Given the description of an element on the screen output the (x, y) to click on. 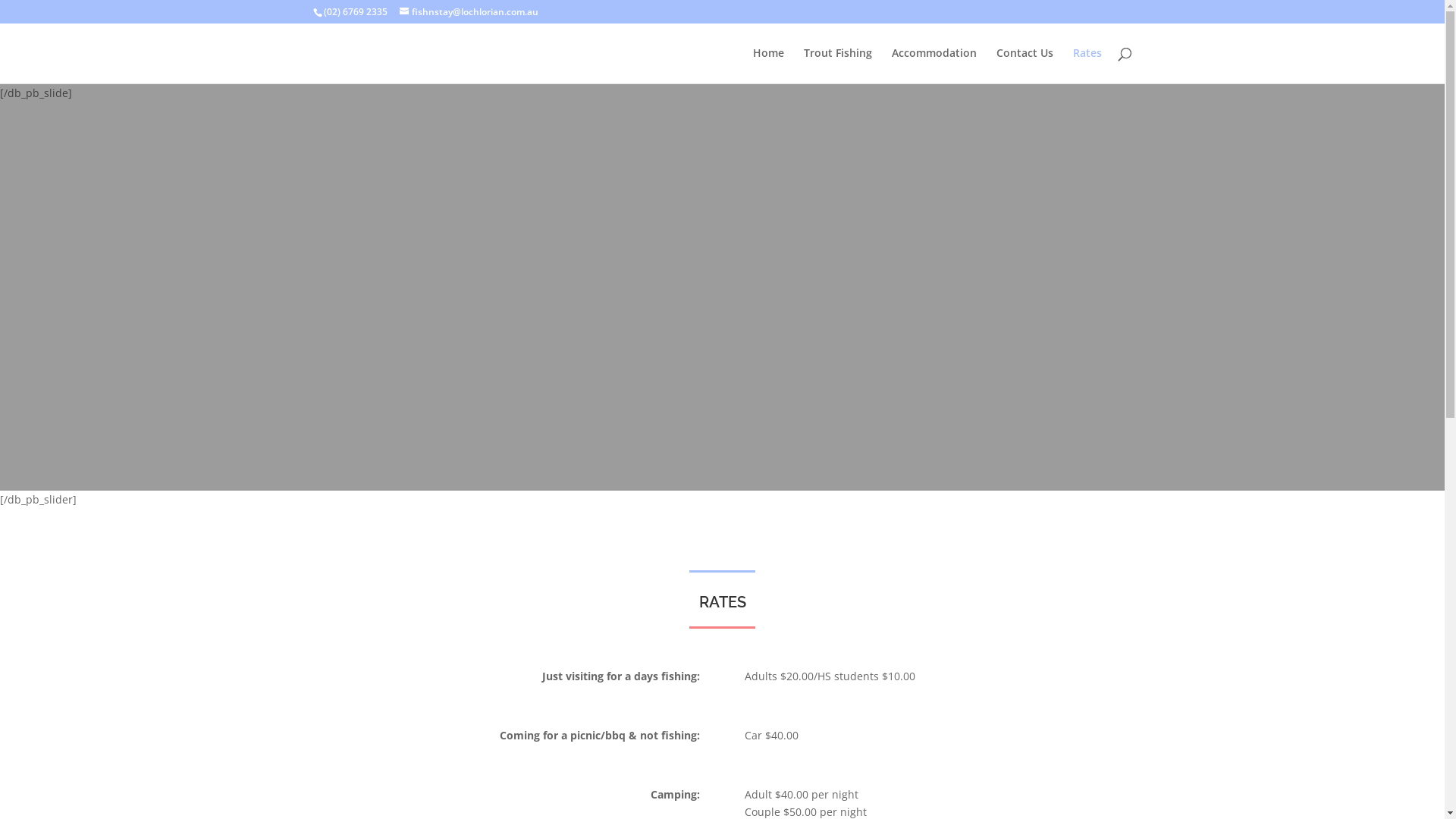
fishnstay@lochlorian.com.au Element type: text (467, 11)
Accommodation Element type: text (933, 65)
Home Element type: text (767, 65)
Contact Us Element type: text (1024, 65)
Rates Element type: text (1086, 65)
Trout Fishing Element type: text (837, 65)
